Given the description of an element on the screen output the (x, y) to click on. 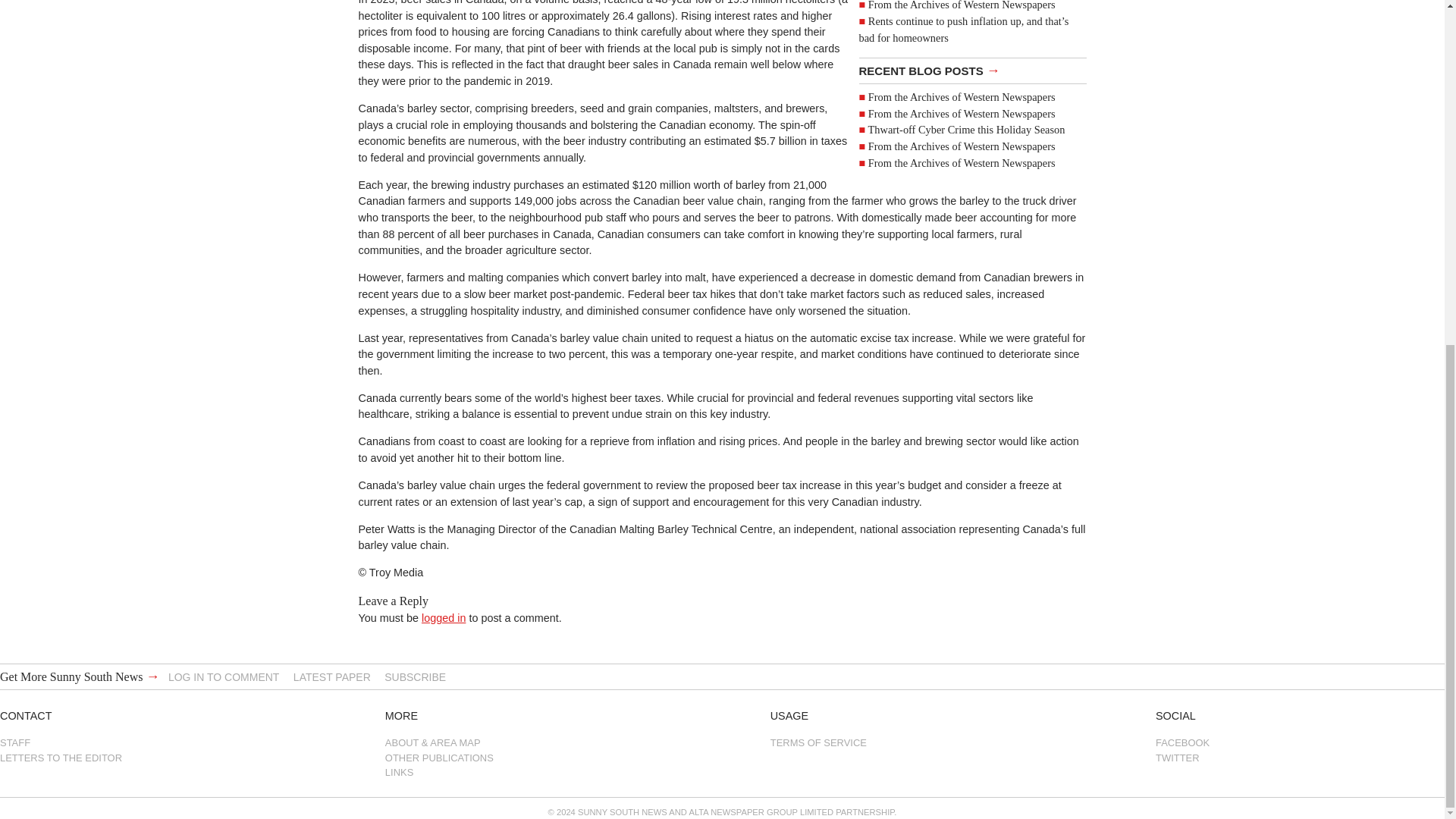
From the Archives of Western Newspapers (961, 113)
From the Archives of Western Newspapers (961, 146)
From the Archives of Western Newspapers (961, 5)
Thwart-off Cyber Crime this Holiday Season (966, 129)
From the Archives of Western Newspapers (961, 96)
logged in (443, 617)
From the Archives of Western Newspapers (961, 162)
